Given the description of an element on the screen output the (x, y) to click on. 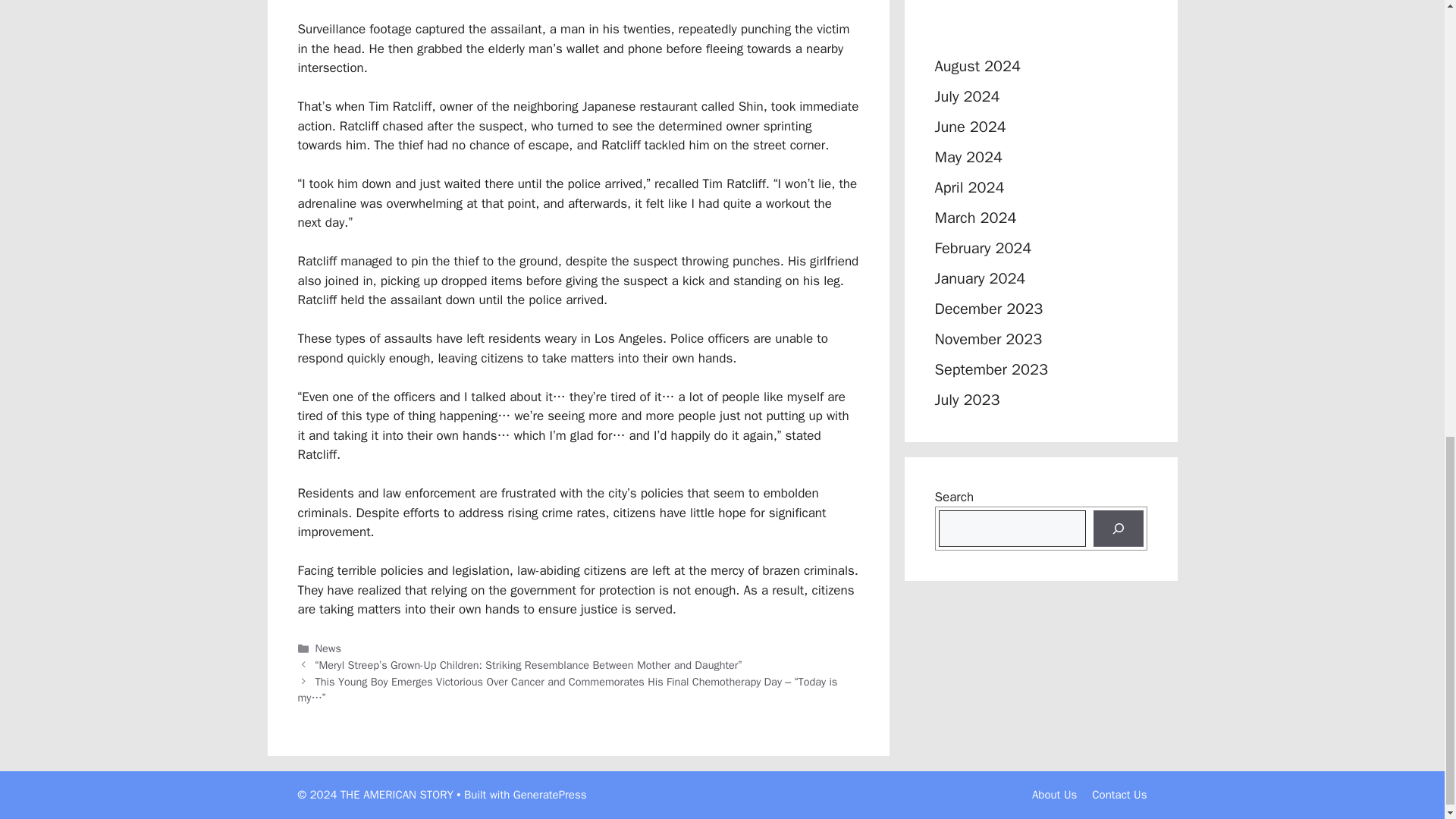
September 2023 (990, 369)
Scroll back to top (1406, 592)
May 2024 (968, 157)
July 2024 (966, 96)
January 2024 (979, 278)
March 2024 (975, 217)
February 2024 (982, 248)
August 2024 (977, 66)
June 2024 (970, 126)
News (327, 648)
